Given the description of an element on the screen output the (x, y) to click on. 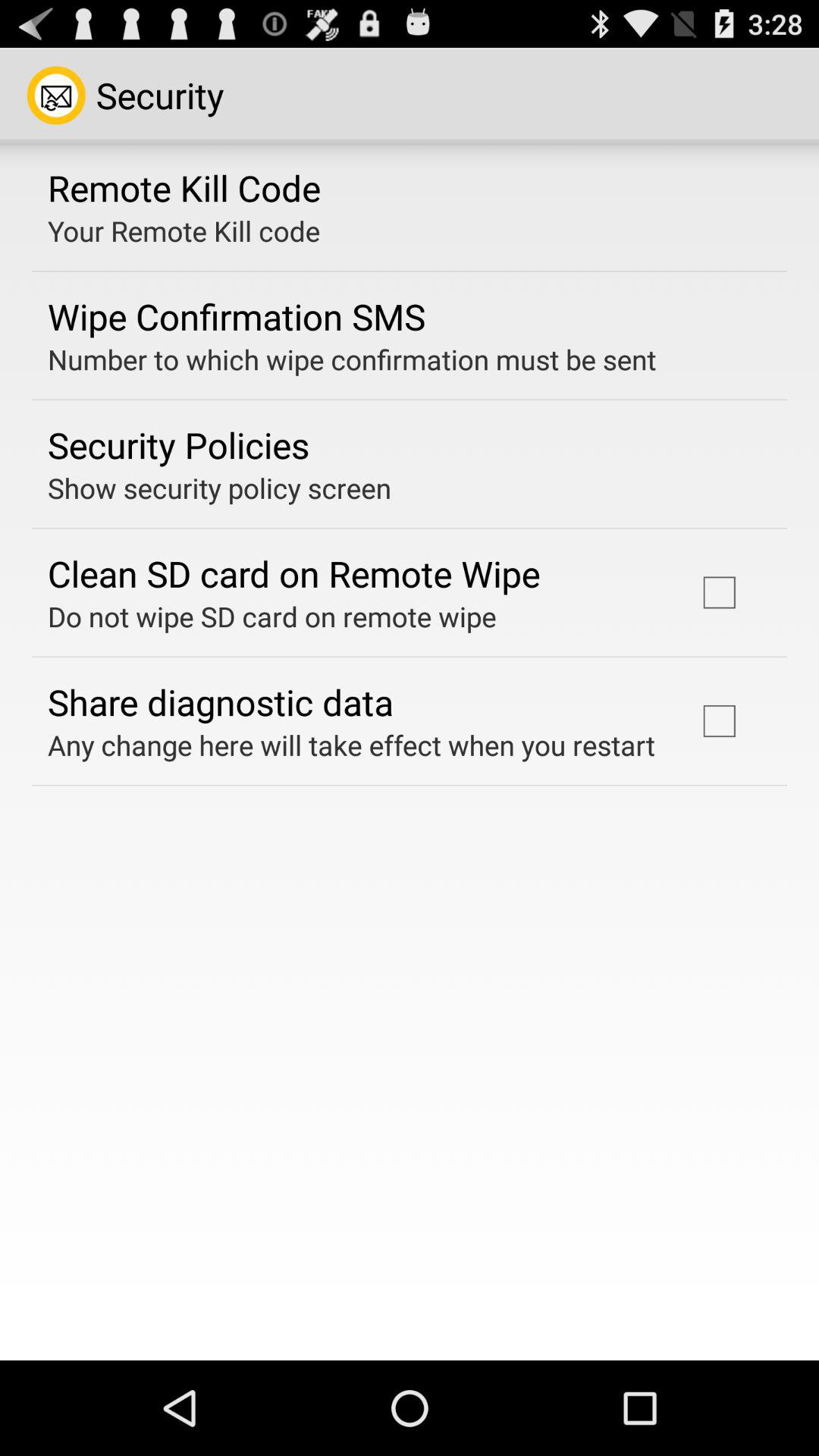
open the security policies app (178, 444)
